Given the description of an element on the screen output the (x, y) to click on. 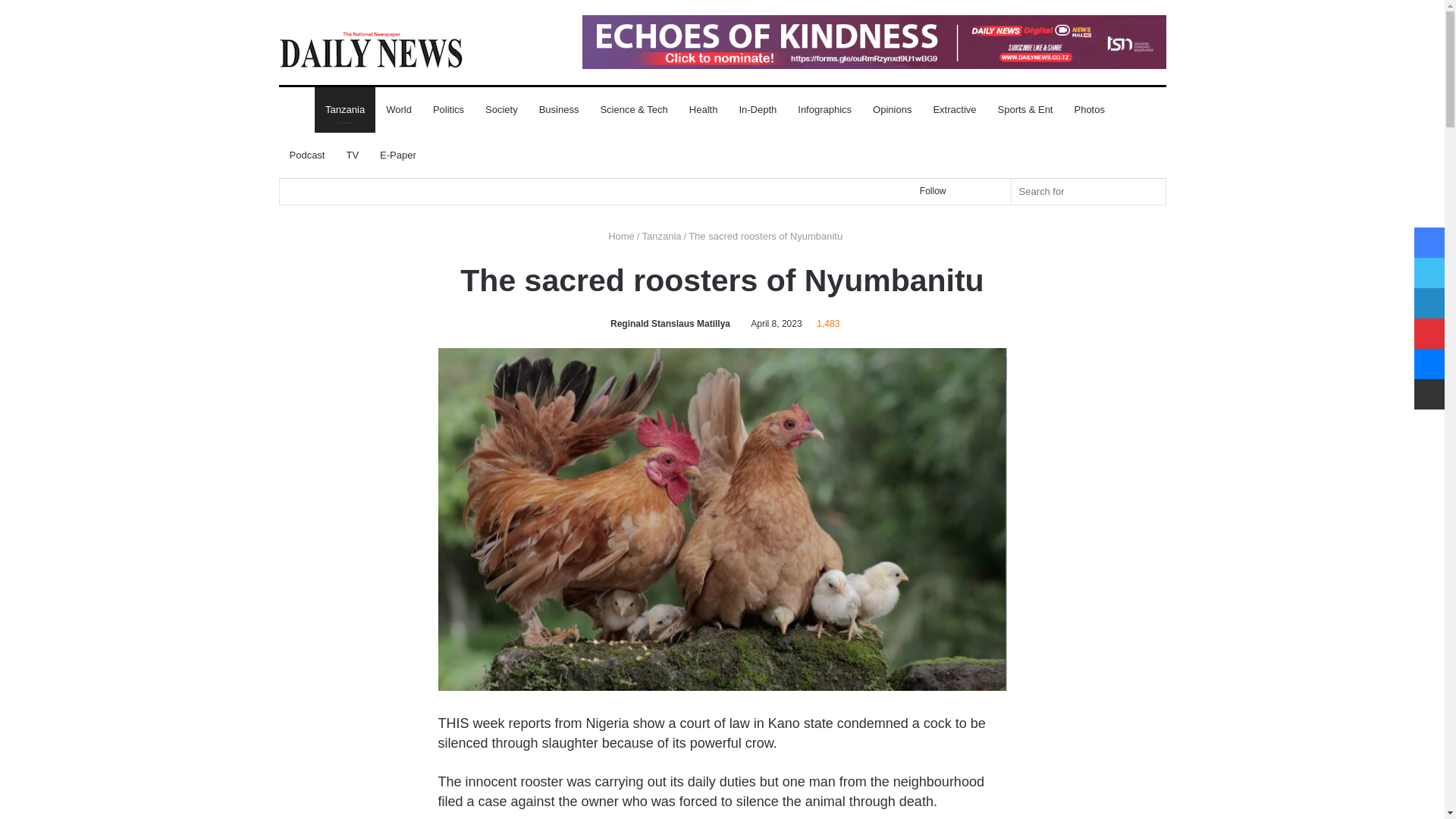
Photos (1088, 109)
E-Paper (397, 155)
Reginald Stanslaus Matillya (667, 323)
Follow (927, 191)
Society (501, 109)
Search for (1088, 191)
Infographics (824, 109)
Home (618, 235)
Politics (448, 109)
Podcast (307, 155)
